Given the description of an element on the screen output the (x, y) to click on. 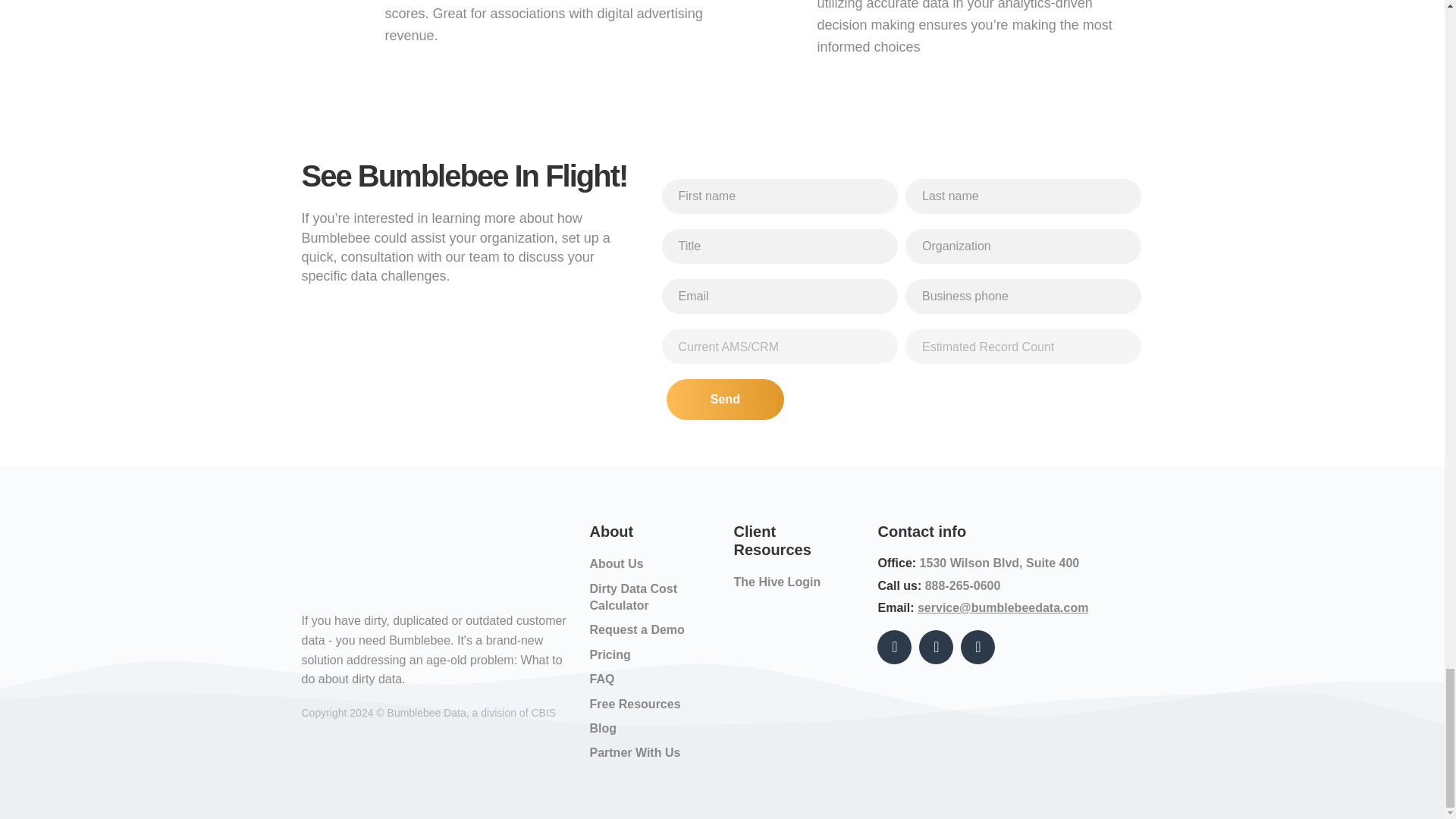
Blog (602, 727)
Send (725, 399)
FAQ (601, 678)
Partner With Us (634, 752)
Dirty Data Cost Calculator (633, 596)
About Us (616, 563)
Free Resources (634, 703)
Request a Demo (636, 629)
The Hive Login (777, 581)
Pricing (609, 654)
